Given the description of an element on the screen output the (x, y) to click on. 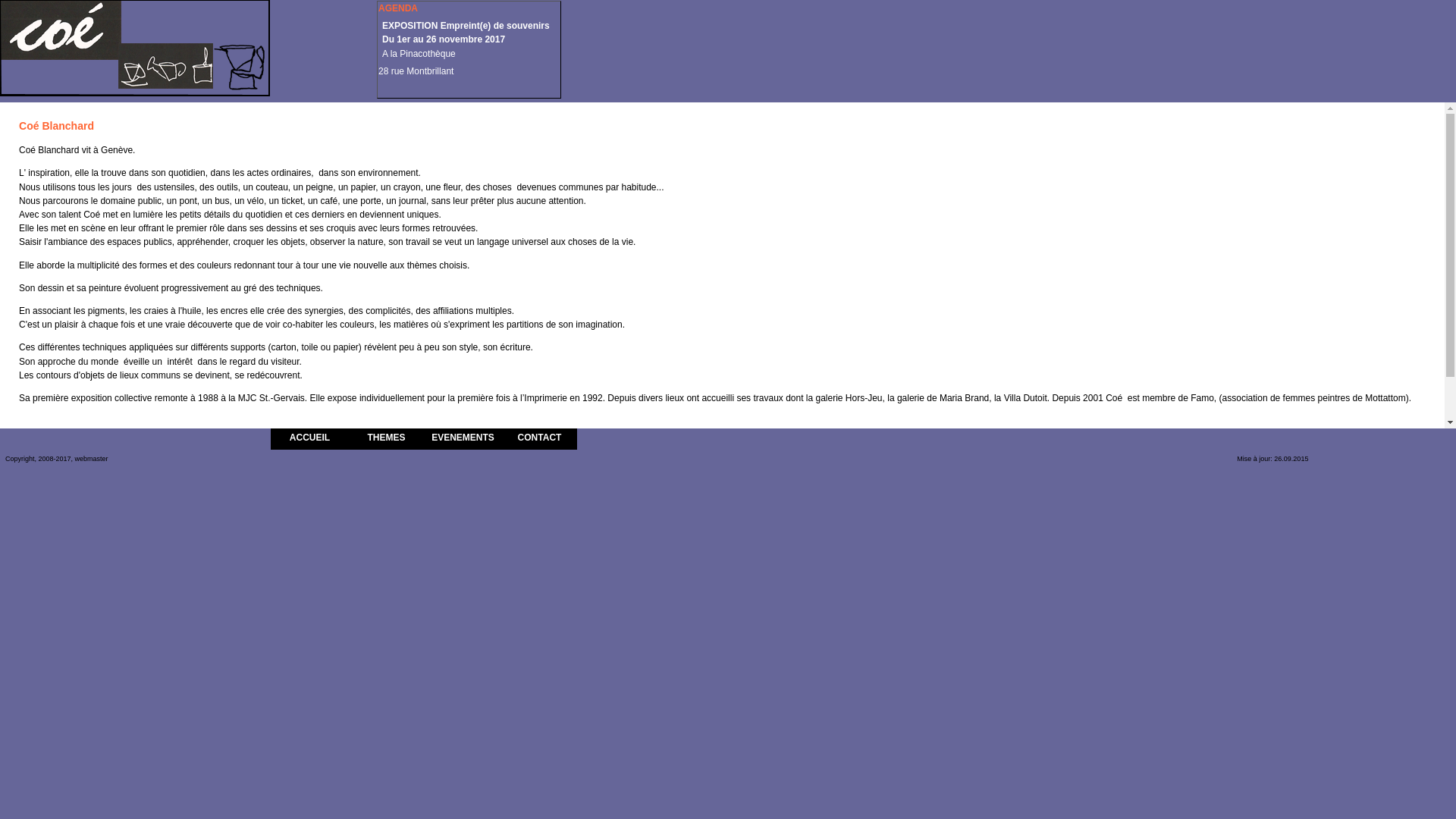
EVENEMENTS Element type: text (462, 441)
webmaster Element type: text (90, 458)
ACCUEIL Element type: text (309, 441)
CONTACT Element type: text (539, 441)
THEMES Element type: text (386, 441)
